Given the description of an element on the screen output the (x, y) to click on. 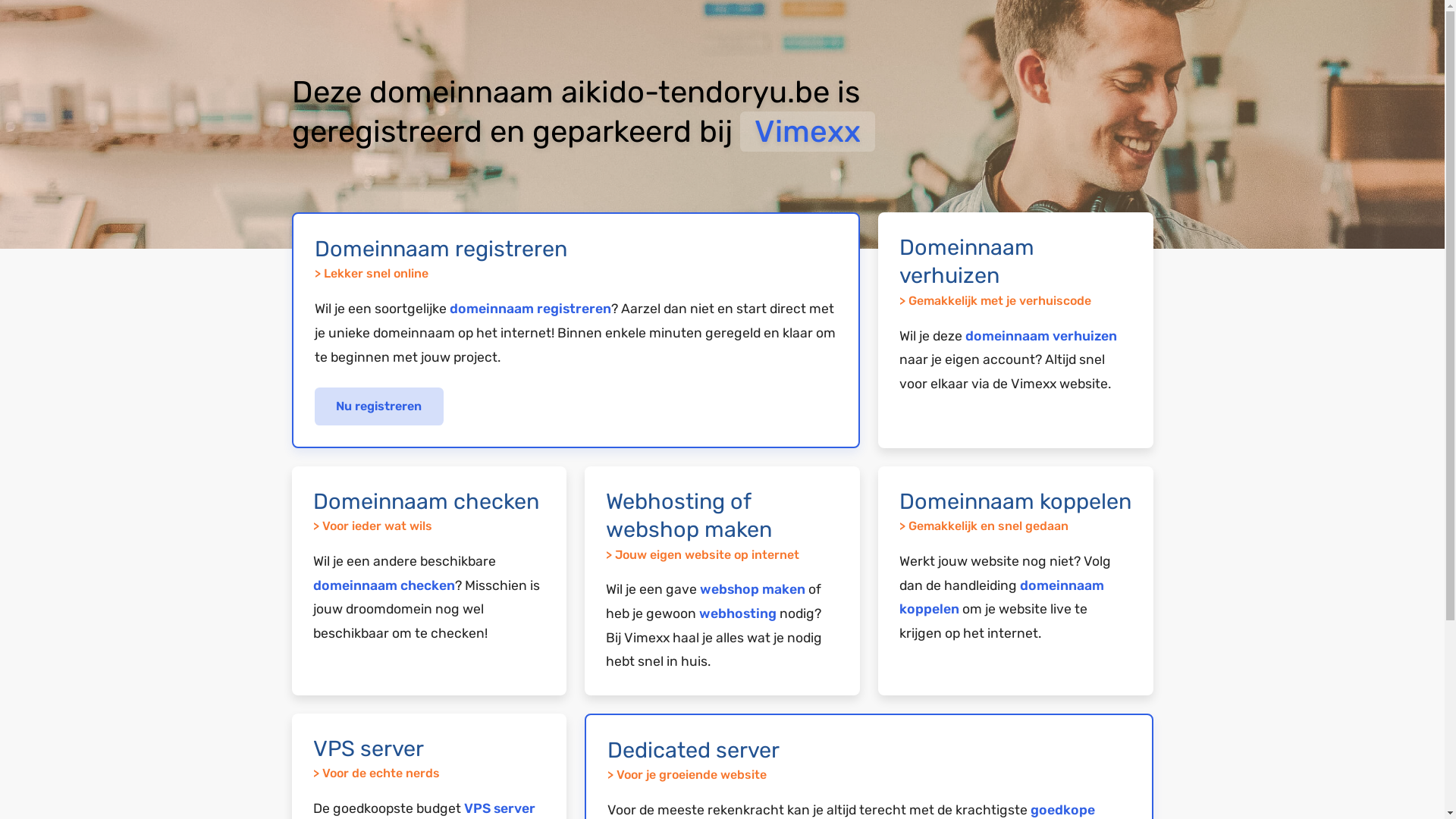
domeinnaam verhuizen Element type: text (1041, 335)
Nu registreren Element type: text (378, 406)
VPS server Element type: text (499, 807)
webshop maken Element type: text (752, 588)
domeinnaam koppelen Element type: text (1001, 597)
domeinnaam registreren Element type: text (529, 308)
webhosting Element type: text (737, 613)
domeinnaam checken Element type: text (383, 585)
Vimexx Element type: text (807, 131)
